Given the description of an element on the screen output the (x, y) to click on. 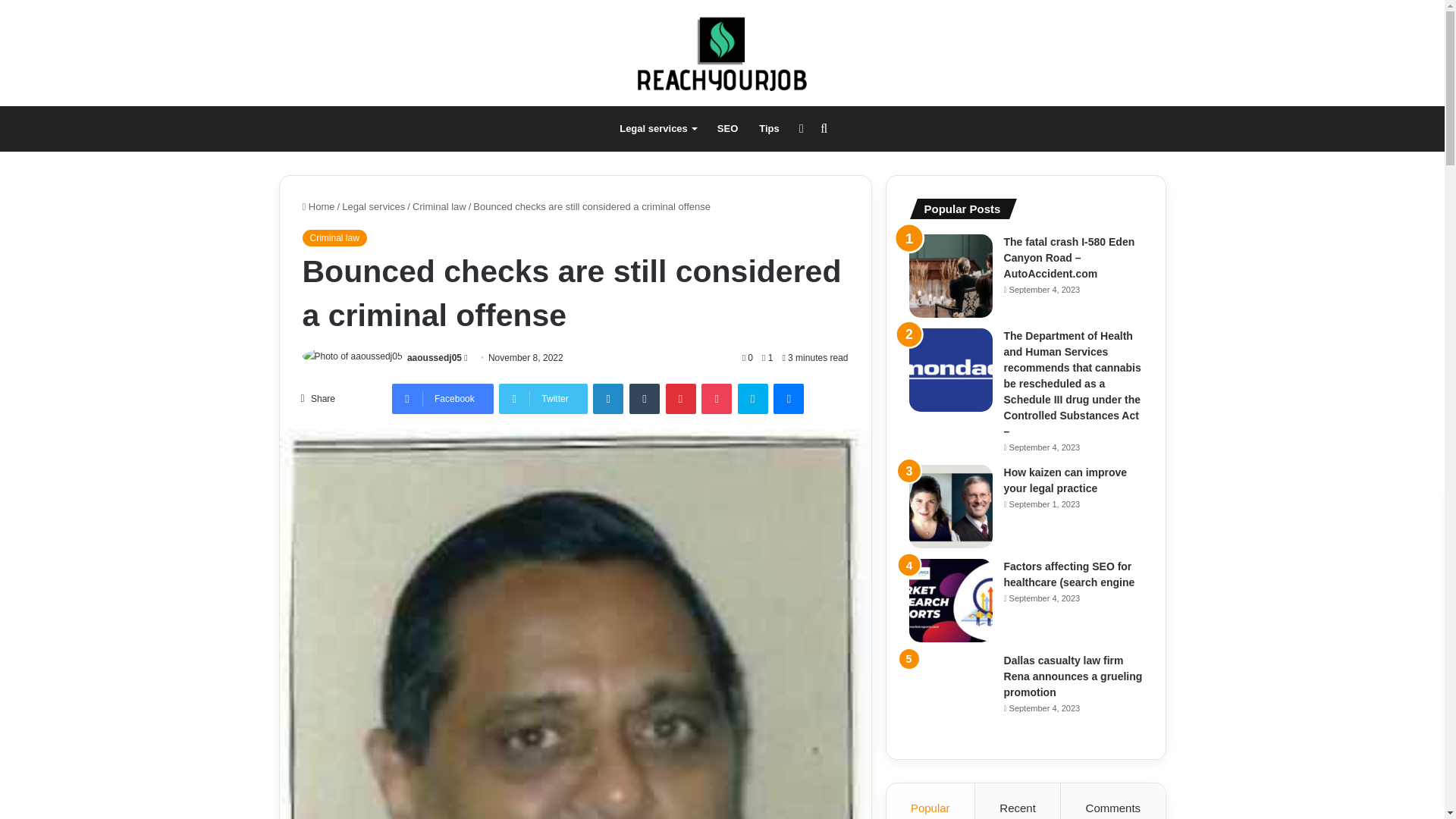
Pocket (716, 399)
Home (317, 206)
Criminal law (333, 238)
Twitter (542, 399)
aaoussedj05 (434, 357)
Pinterest (680, 399)
Facebook (442, 399)
Switch skin (801, 128)
Switch skin (801, 128)
Search for (823, 128)
Legal services (657, 128)
Facebook (442, 399)
Messenger (788, 399)
Skype (753, 399)
